Given the description of an element on the screen output the (x, y) to click on. 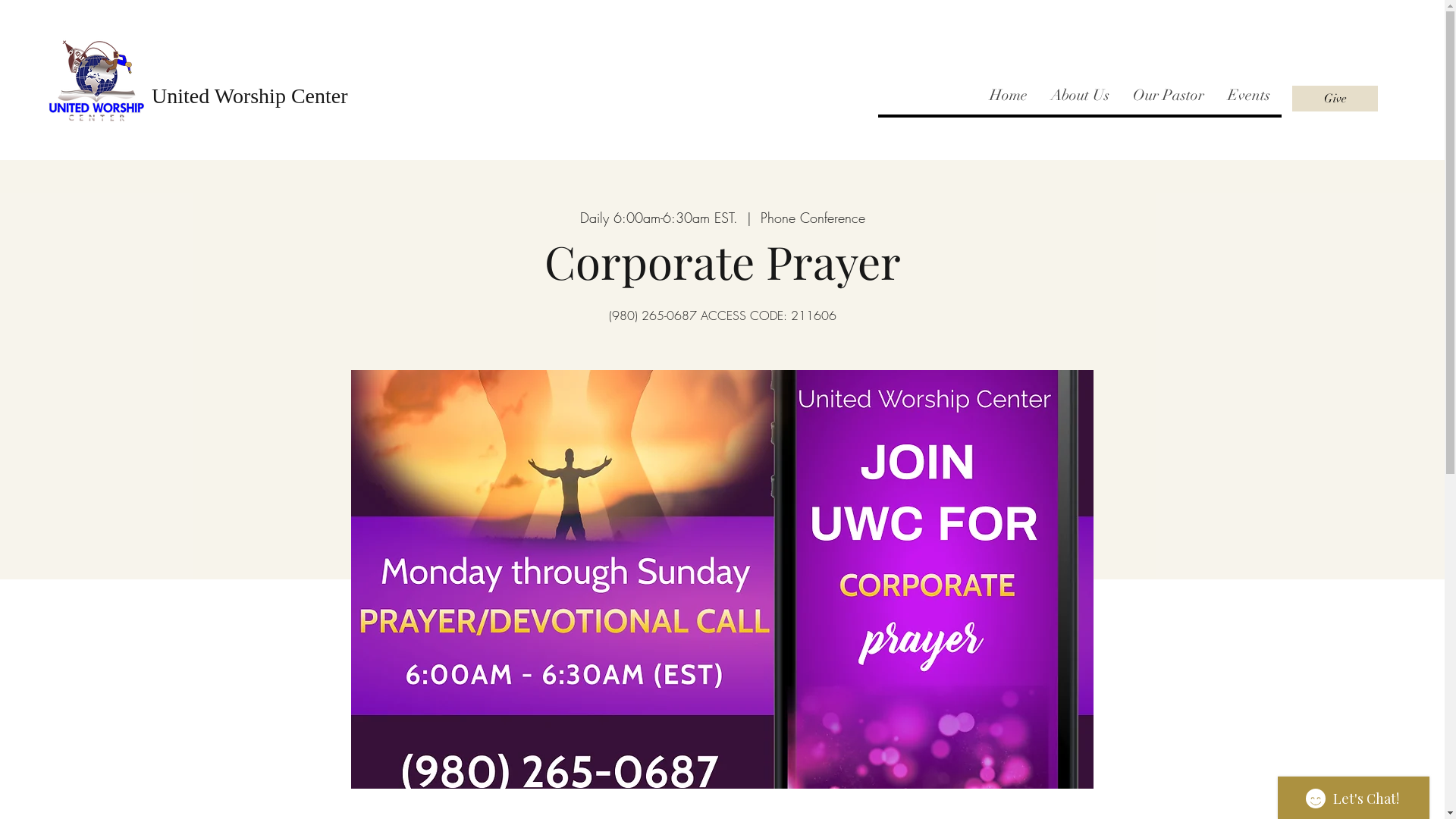
Events Element type: text (1248, 95)
About Us Element type: text (1079, 95)
Our Pastor Element type: text (1167, 95)
Give Element type: text (1334, 98)
Home Element type: text (1007, 95)
United Worship Center Element type: text (249, 95)
